Given the description of an element on the screen output the (x, y) to click on. 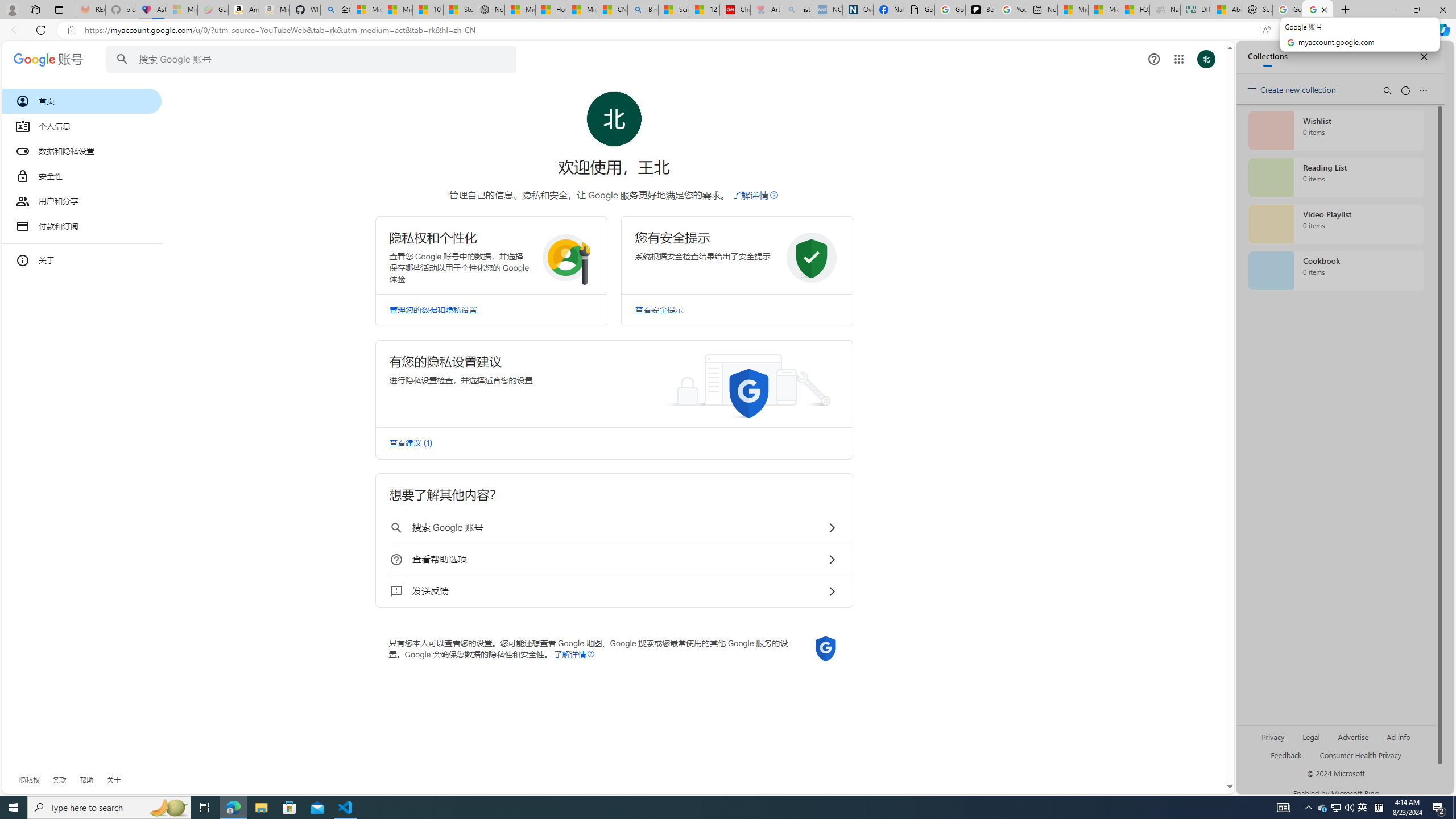
Be Smart | creating Science videos | Patreon (980, 9)
Arthritis: Ask Health Professionals - Sleeping (765, 9)
